Given the description of an element on the screen output the (x, y) to click on. 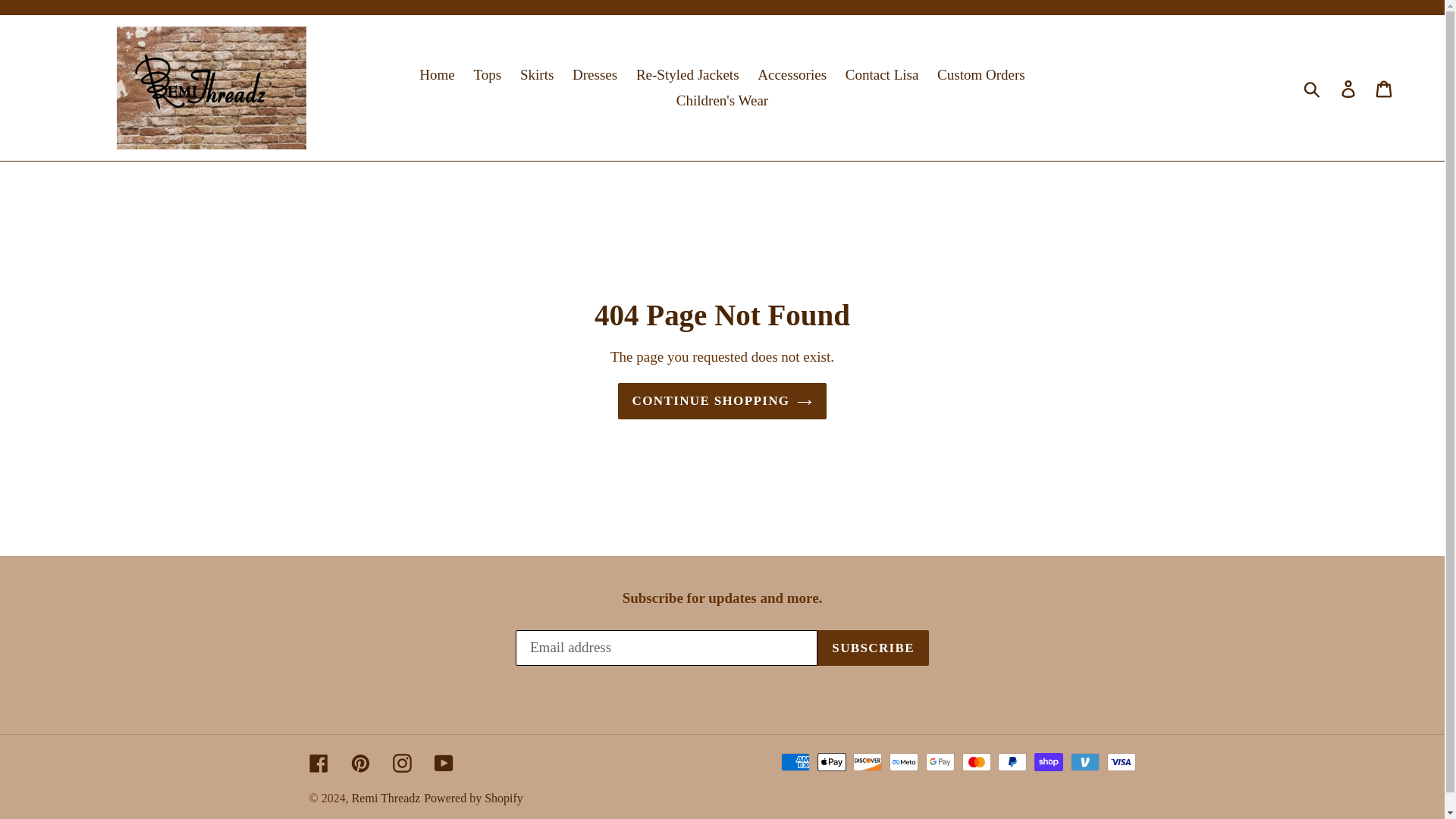
Log in (1349, 88)
Contact Lisa (882, 75)
Re-Styled Jackets (687, 75)
Remi Threadz (386, 797)
Accessories (791, 75)
SUBSCRIBE (872, 647)
Tops (487, 75)
Home (436, 75)
Children's Wear (722, 100)
Powered by Shopify (472, 797)
